Given the description of an element on the screen output the (x, y) to click on. 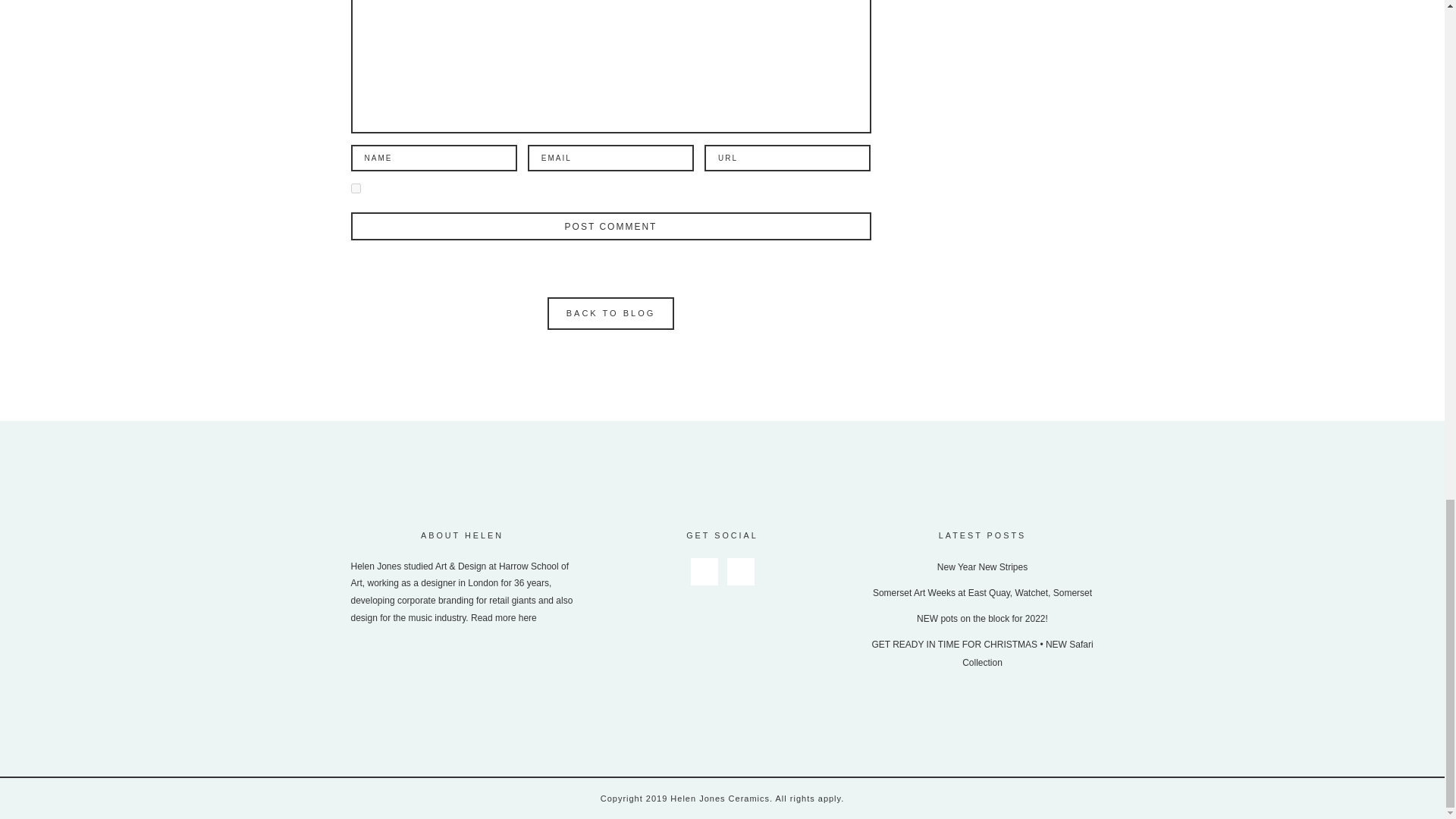
Somerset Art Weeks at East Quay, Watchet, Somerset (982, 593)
Post Comment (610, 226)
Read more here (503, 617)
Post Comment (610, 226)
NEW pots on the block for 2022! (982, 618)
BACK TO BLOG (611, 317)
New Year New Stripes (982, 566)
yes (354, 188)
